Given the description of an element on the screen output the (x, y) to click on. 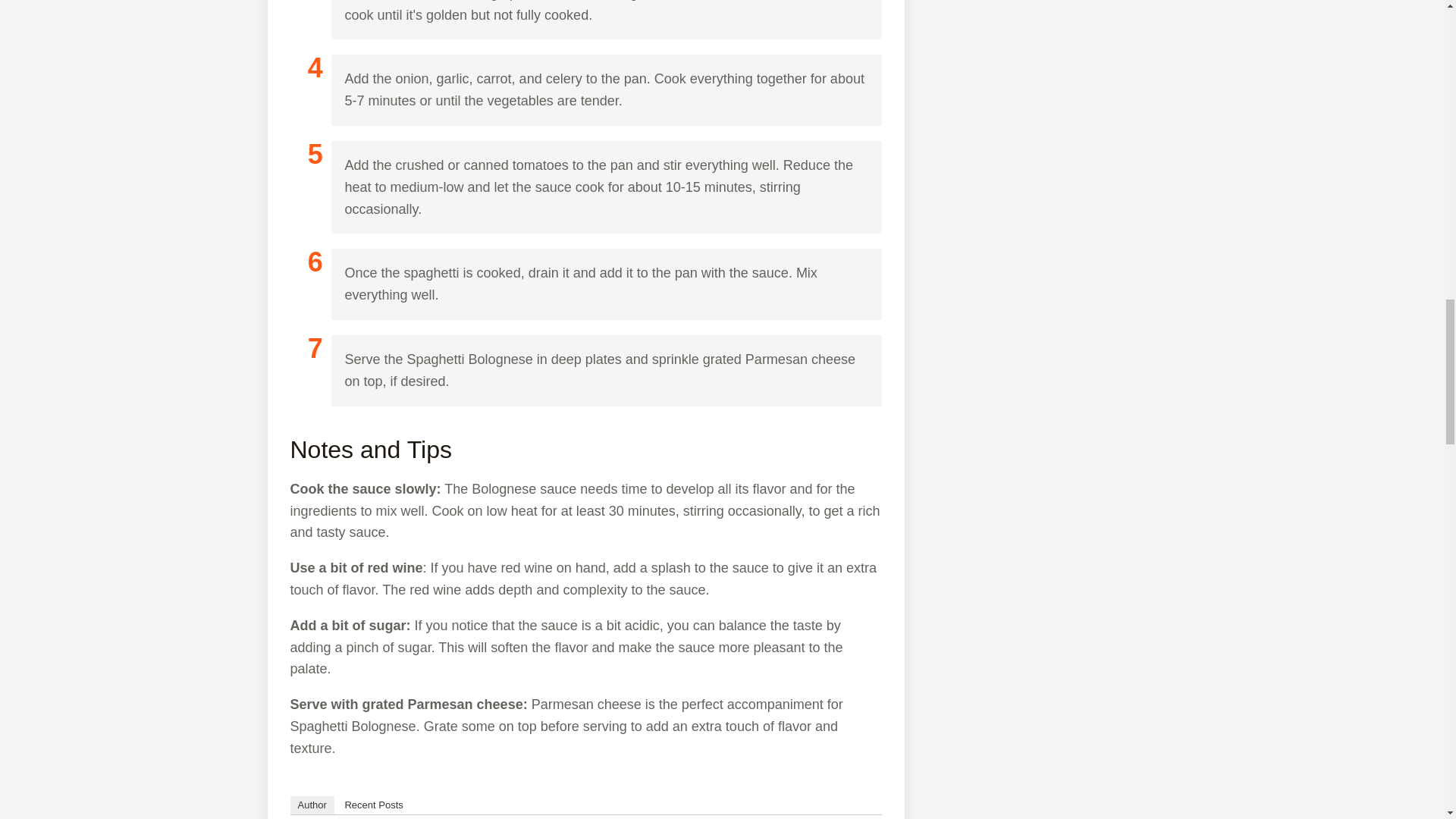
Recent Posts (373, 805)
Author (311, 805)
